Given the description of an element on the screen output the (x, y) to click on. 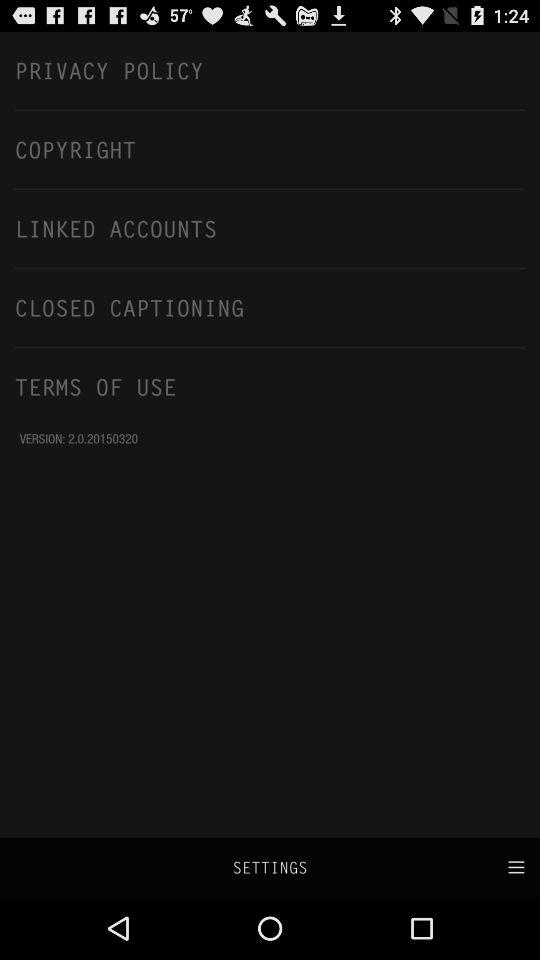
choose the privacy policy icon (270, 70)
